Given the description of an element on the screen output the (x, y) to click on. 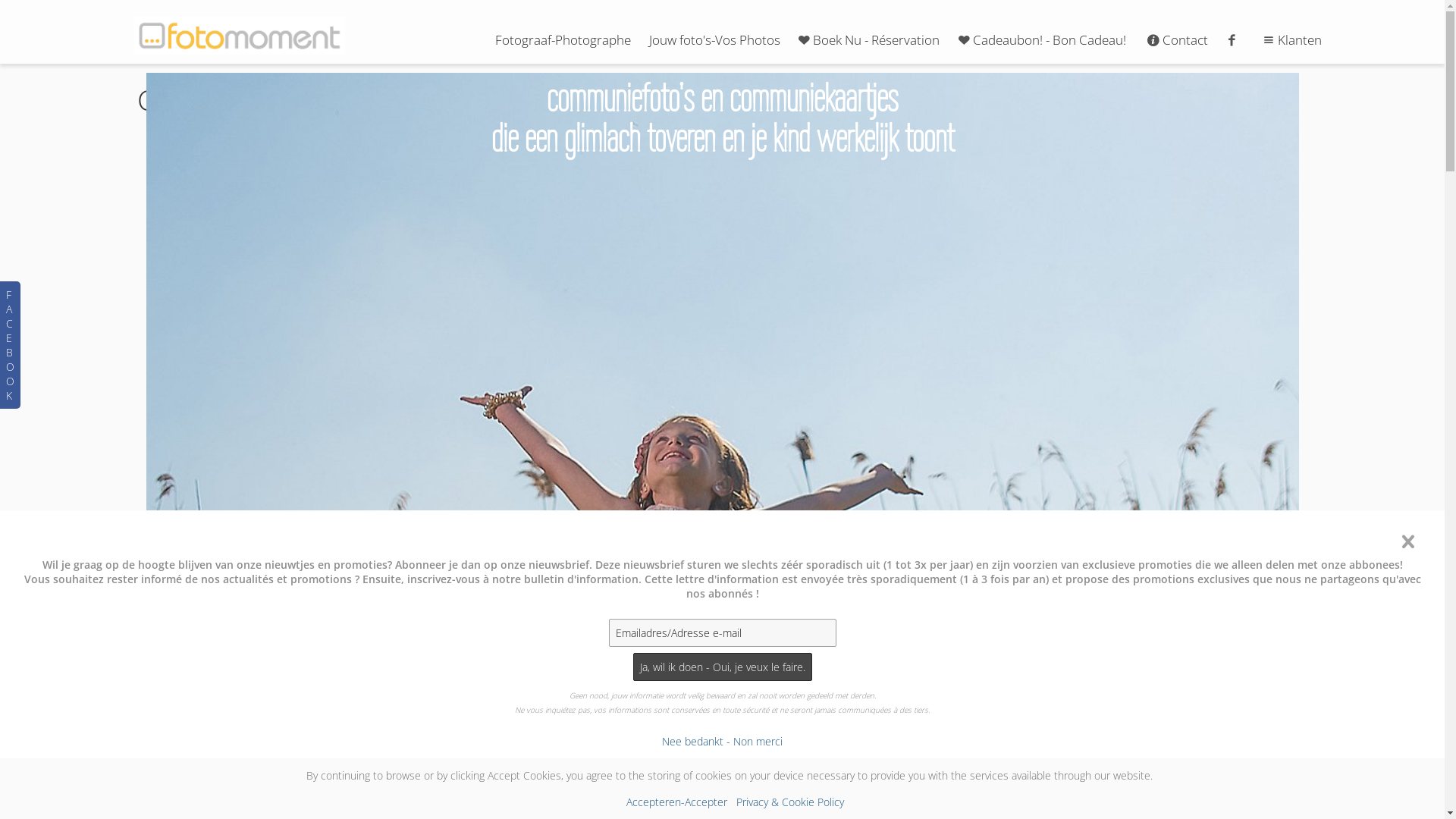
Accepteren-Accepter Element type: text (676, 801)
Privacy & Cookie Policy Element type: text (790, 801)
Klanten Element type: text (1290, 39)
Fotograaf-Photographe Element type: text (562, 39)
Ja, wil ik doen - Oui, je veux le faire. Element type: text (721, 666)
Jouw foto's-Vos Photos Element type: text (714, 39)
Contact Element type: text (1175, 39)
Cadeaubon! - Bon Cadeau! Element type: text (1040, 39)
Nee bedankt - Non merci Element type: text (722, 741)
